Given the description of an element on the screen output the (x, y) to click on. 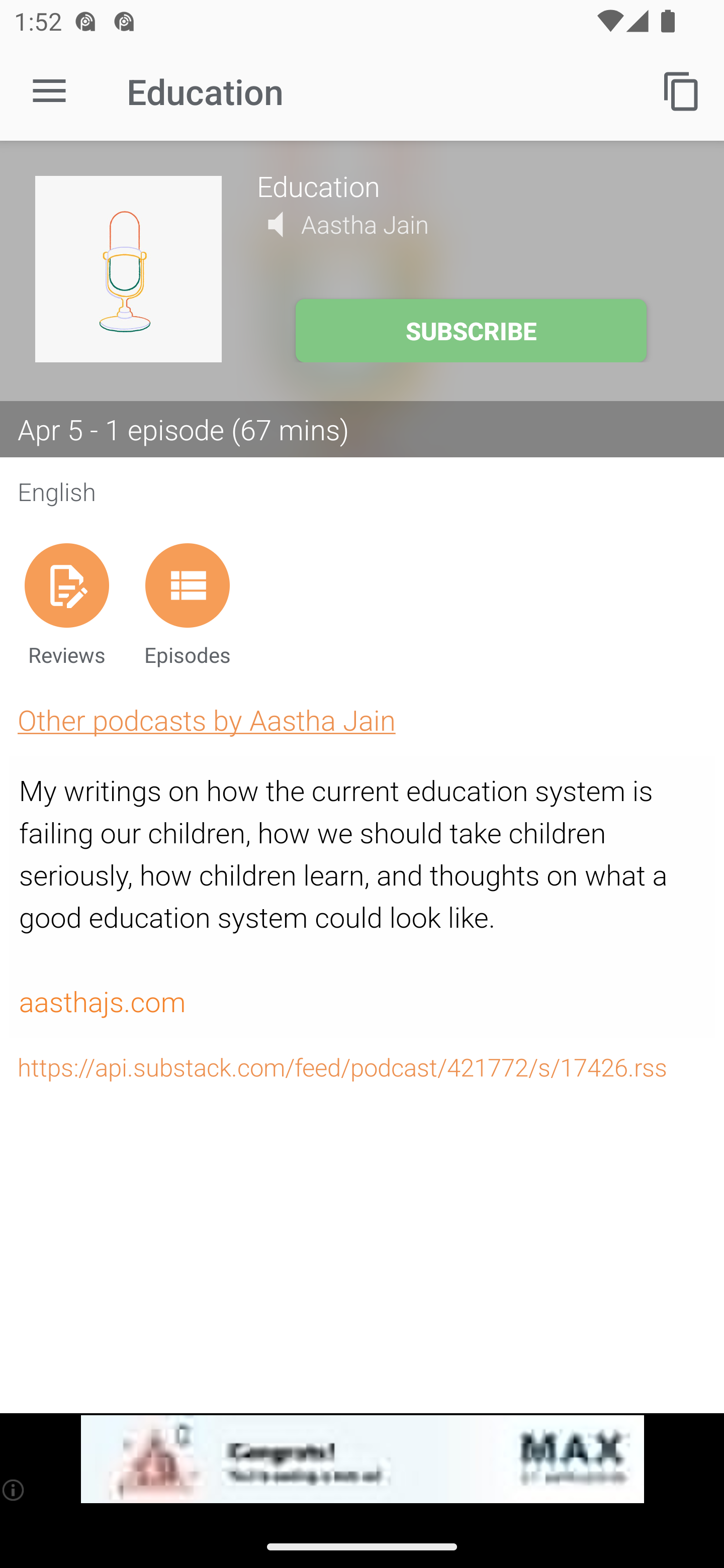
Open navigation sidebar (49, 91)
Copy feed url to clipboard (681, 90)
Education (472, 185)
SUBSCRIBE (470, 330)
Reviews (66, 604)
Episodes (187, 604)
Other podcasts by Aastha Jain (206, 719)
aasthajs.com (101, 1002)
app-monetization (362, 1459)
(i) (14, 1489)
